Given the description of an element on the screen output the (x, y) to click on. 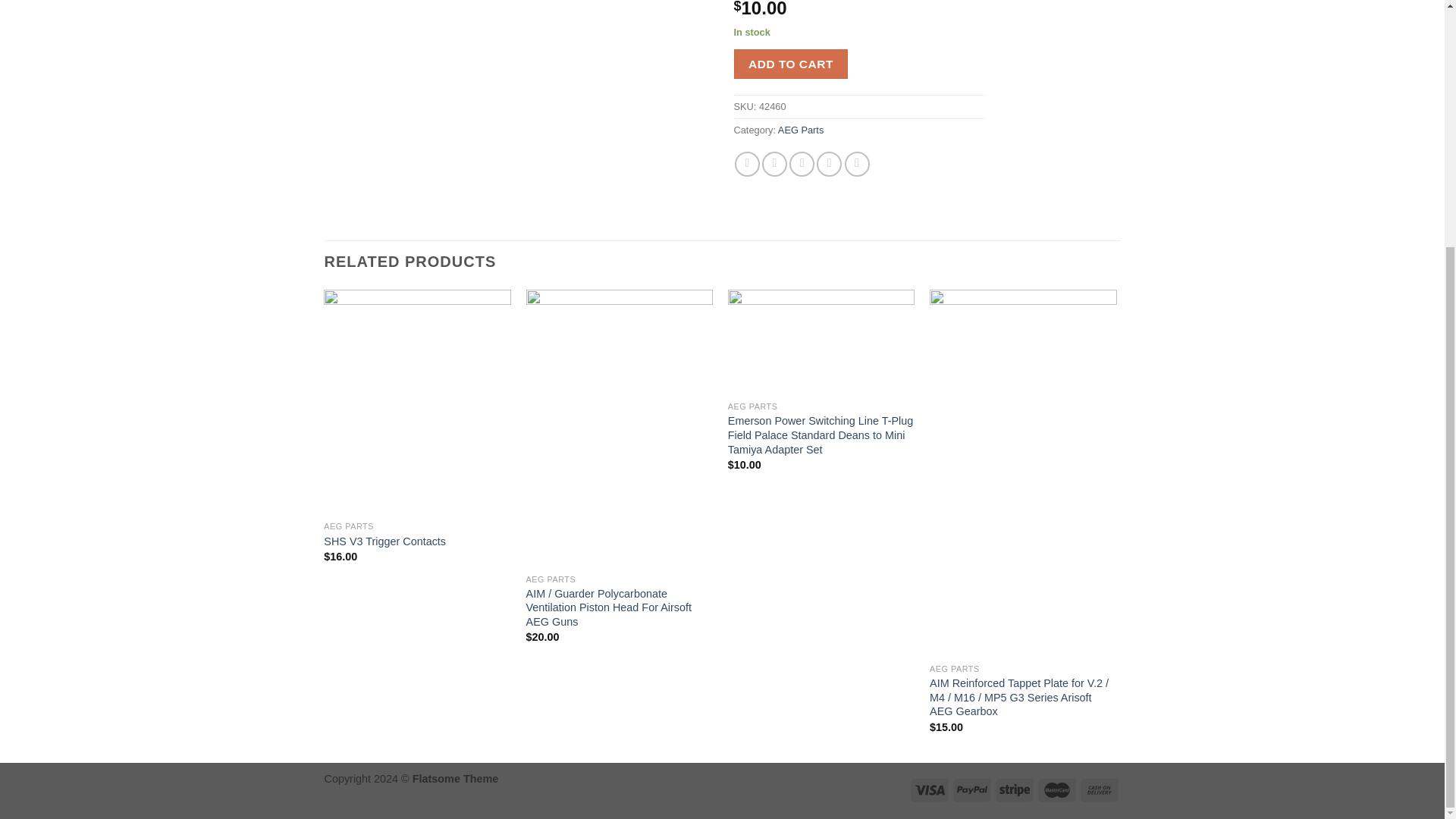
Share on LinkedIn (856, 163)
Pin on Pinterest (828, 163)
Email to a Friend (801, 163)
Share on Twitter (774, 163)
Share on Facebook (747, 163)
